Given the description of an element on the screen output the (x, y) to click on. 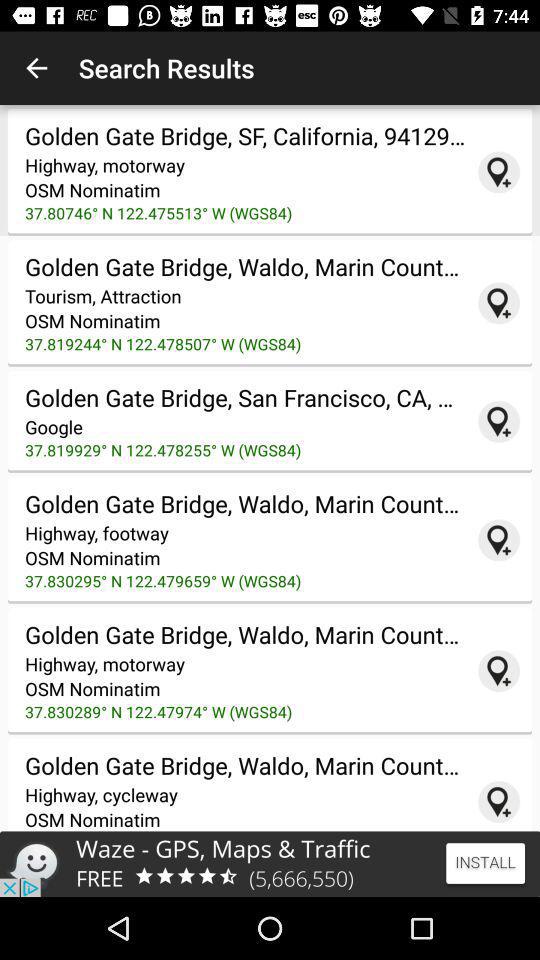
pin location (499, 671)
